Given the description of an element on the screen output the (x, y) to click on. 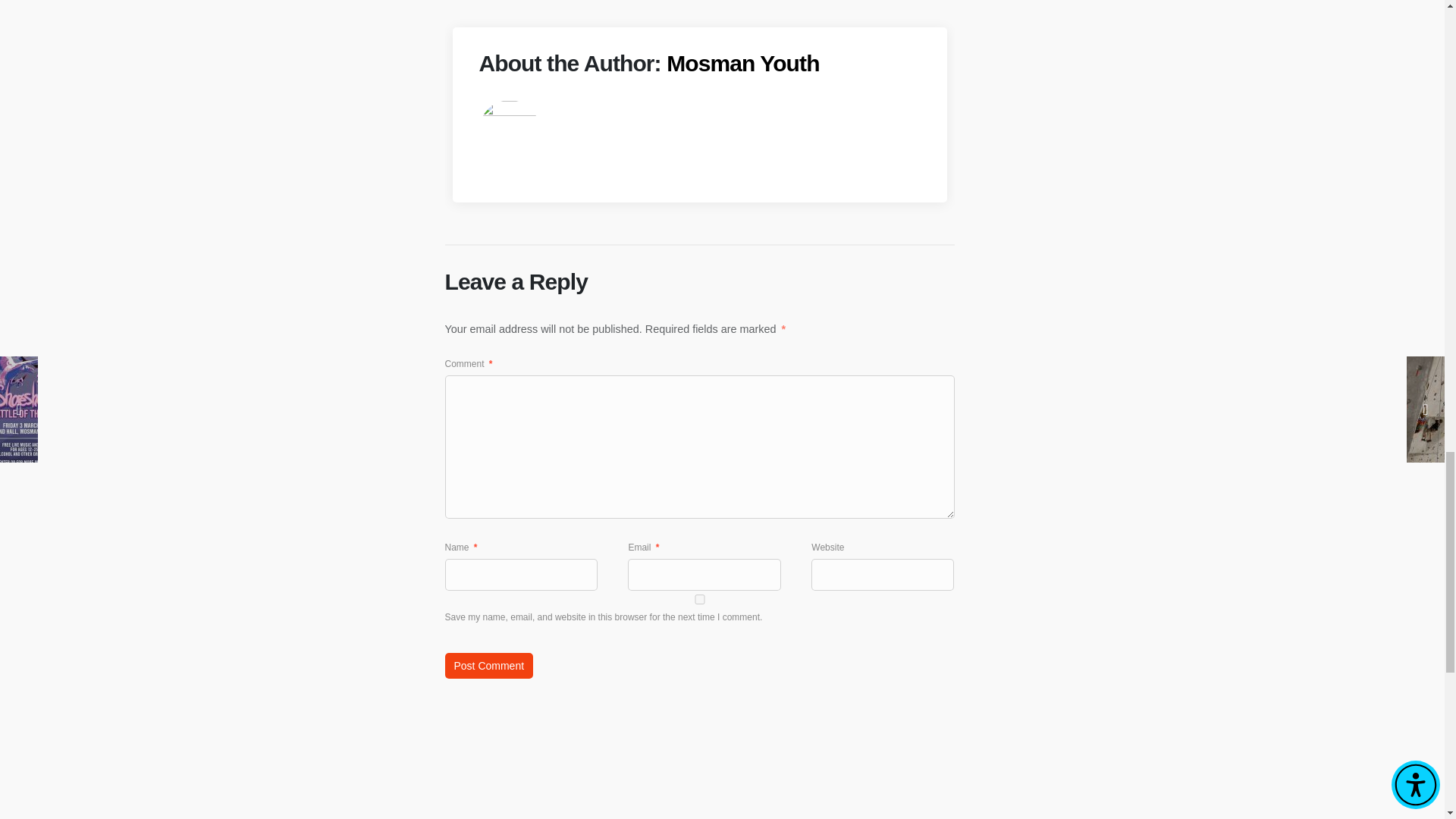
Posts by Mosman Youth (742, 63)
Mosman Youth (742, 63)
Post Comment (488, 665)
yes (698, 599)
Post Comment (488, 665)
